Given the description of an element on the screen output the (x, y) to click on. 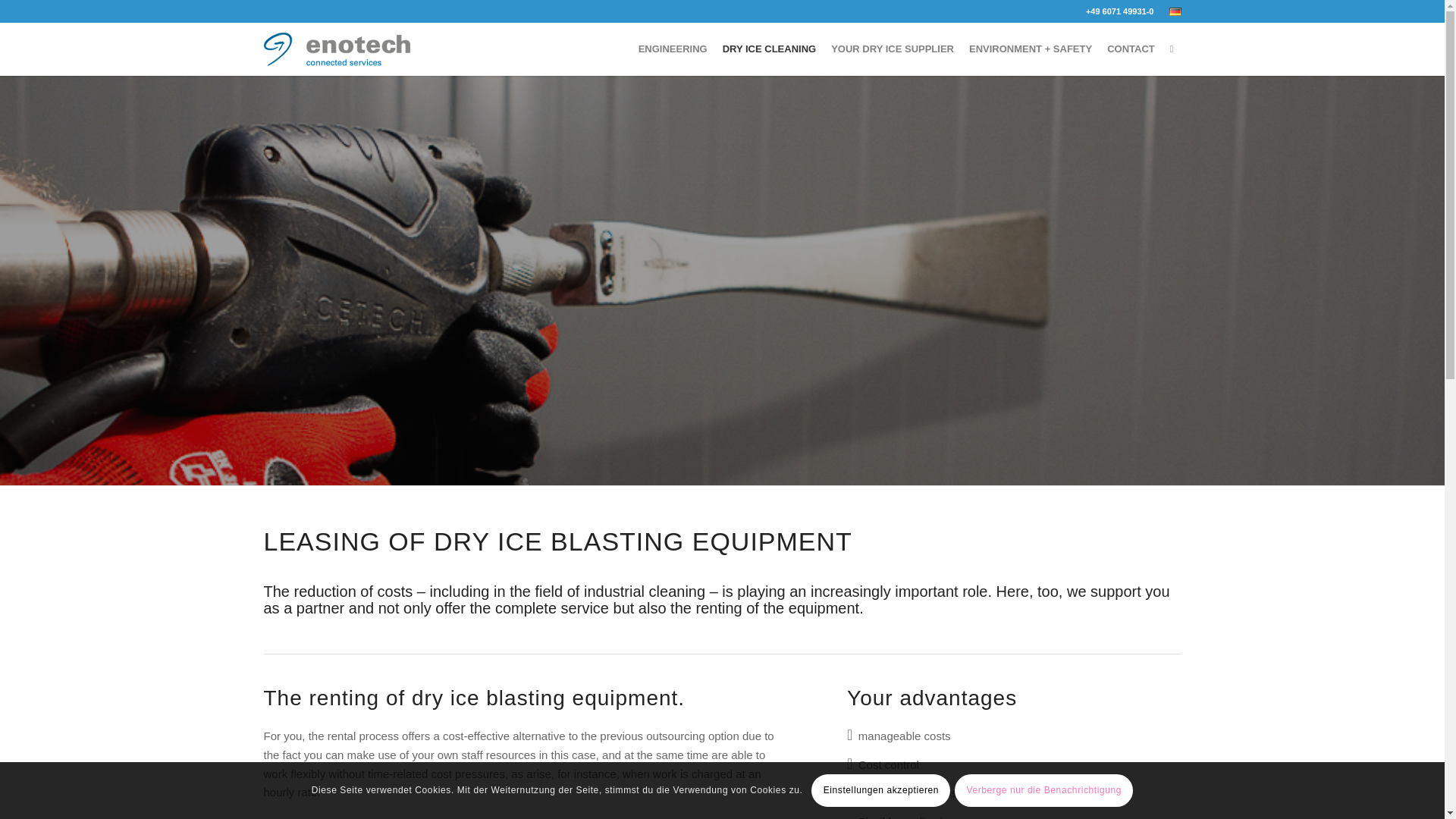
DRY ICE CLEANING (769, 49)
ENGINEERING (672, 49)
CONTACT (1130, 49)
Einstellungen akzeptieren (880, 789)
YOUR DRY ICE SUPPLIER (892, 49)
Verberge nur die Benachrichtigung (1043, 789)
